Given the description of an element on the screen output the (x, y) to click on. 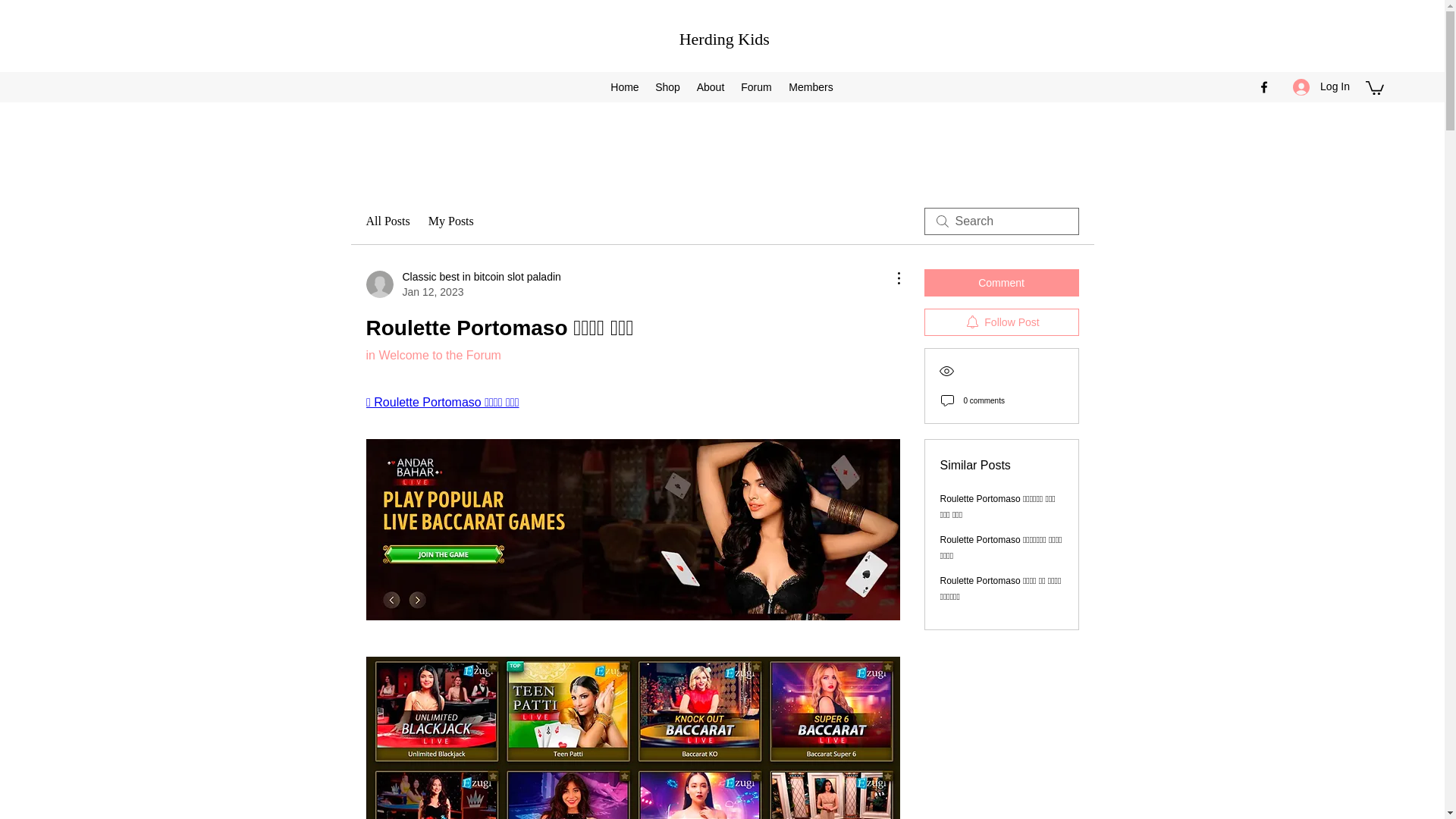
All Posts (387, 221)
Herding Kids (724, 38)
Home (624, 87)
Members (809, 87)
About (710, 87)
Log In (1320, 86)
in Welcome to the Forum (432, 354)
Forum (462, 284)
Follow Post (755, 87)
Shop (1000, 321)
My Posts (667, 87)
Comment (451, 221)
